Given the description of an element on the screen output the (x, y) to click on. 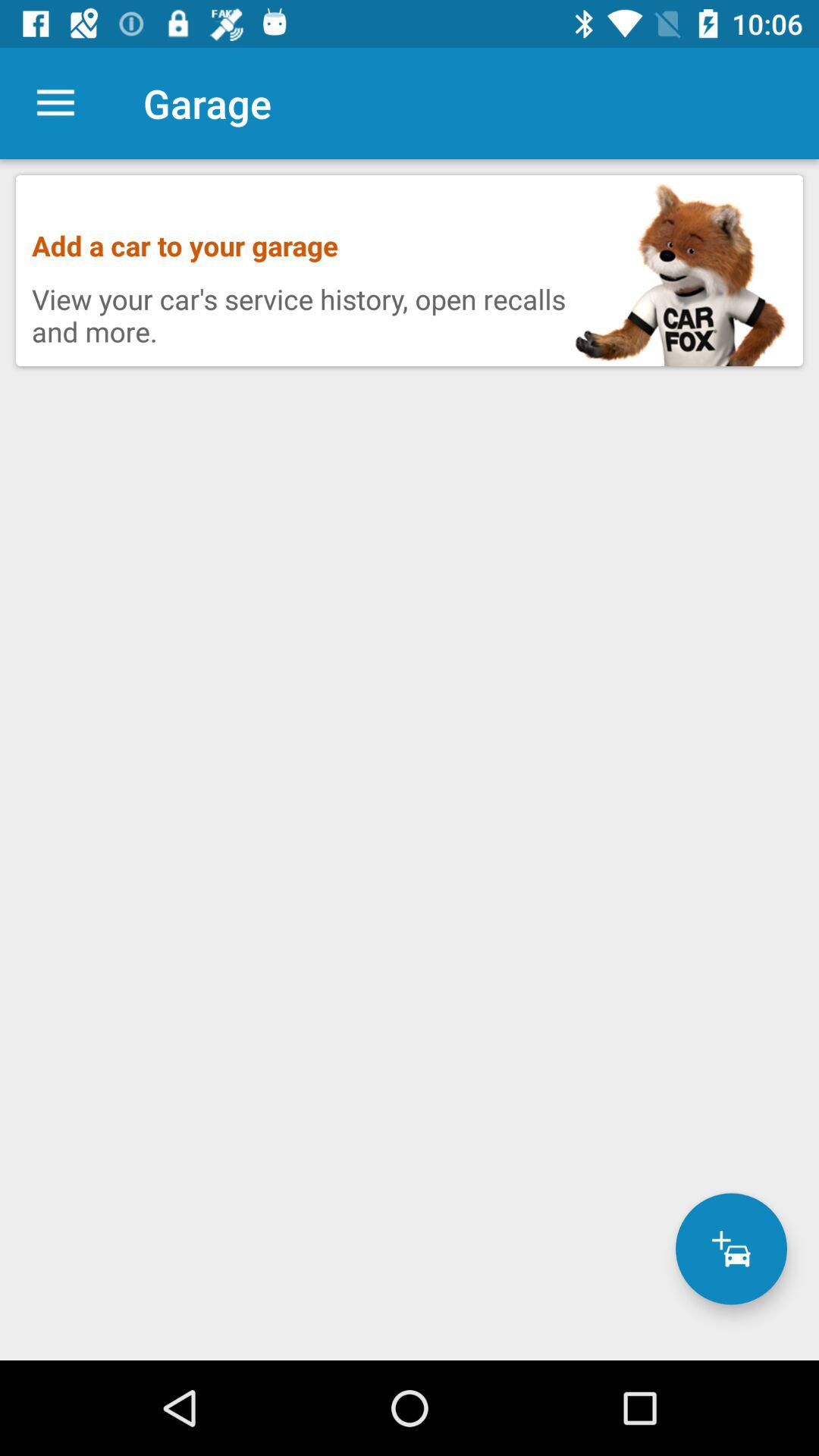
add car (731, 1248)
